Given the description of an element on the screen output the (x, y) to click on. 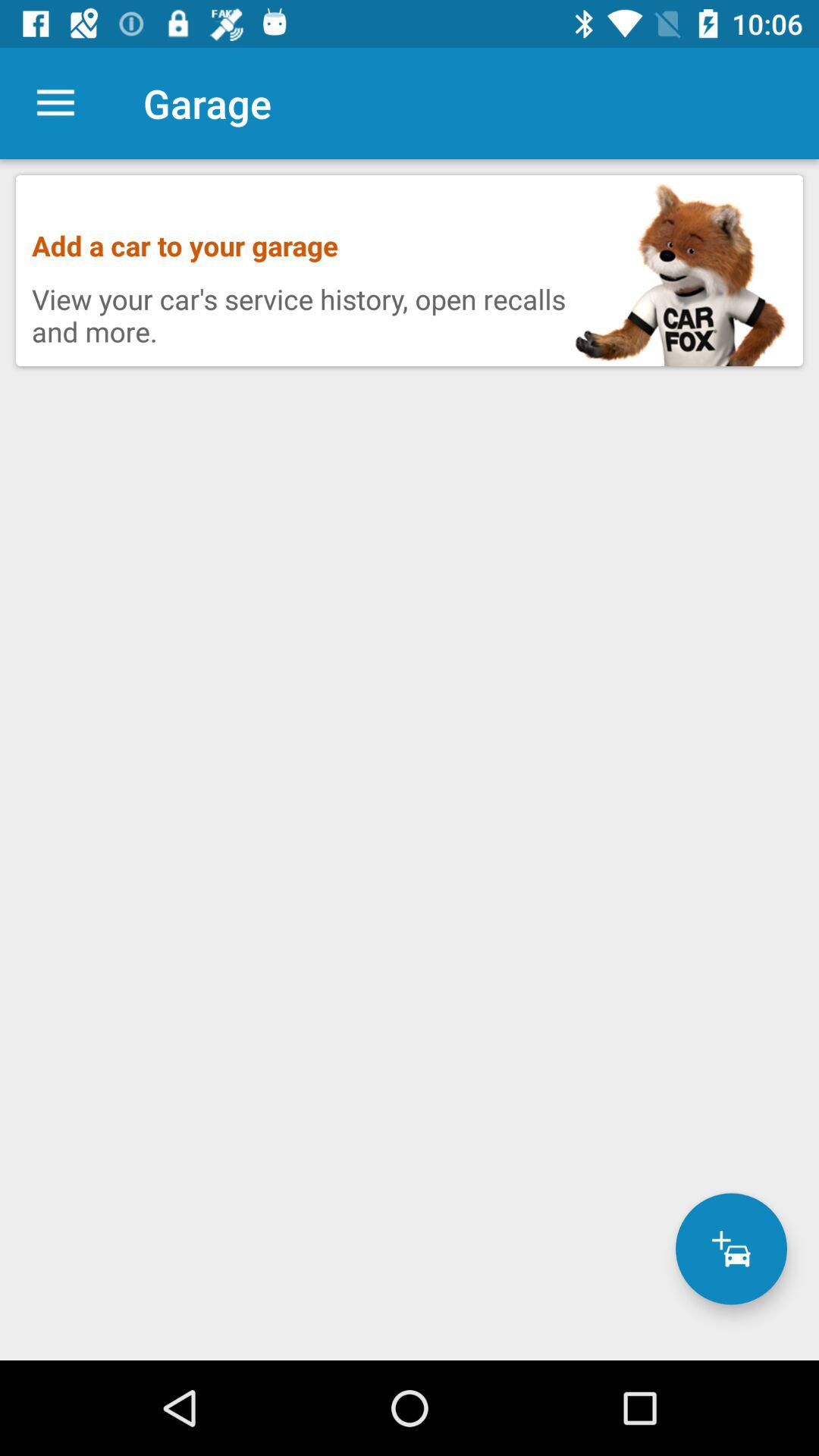
add car (731, 1248)
